Given the description of an element on the screen output the (x, y) to click on. 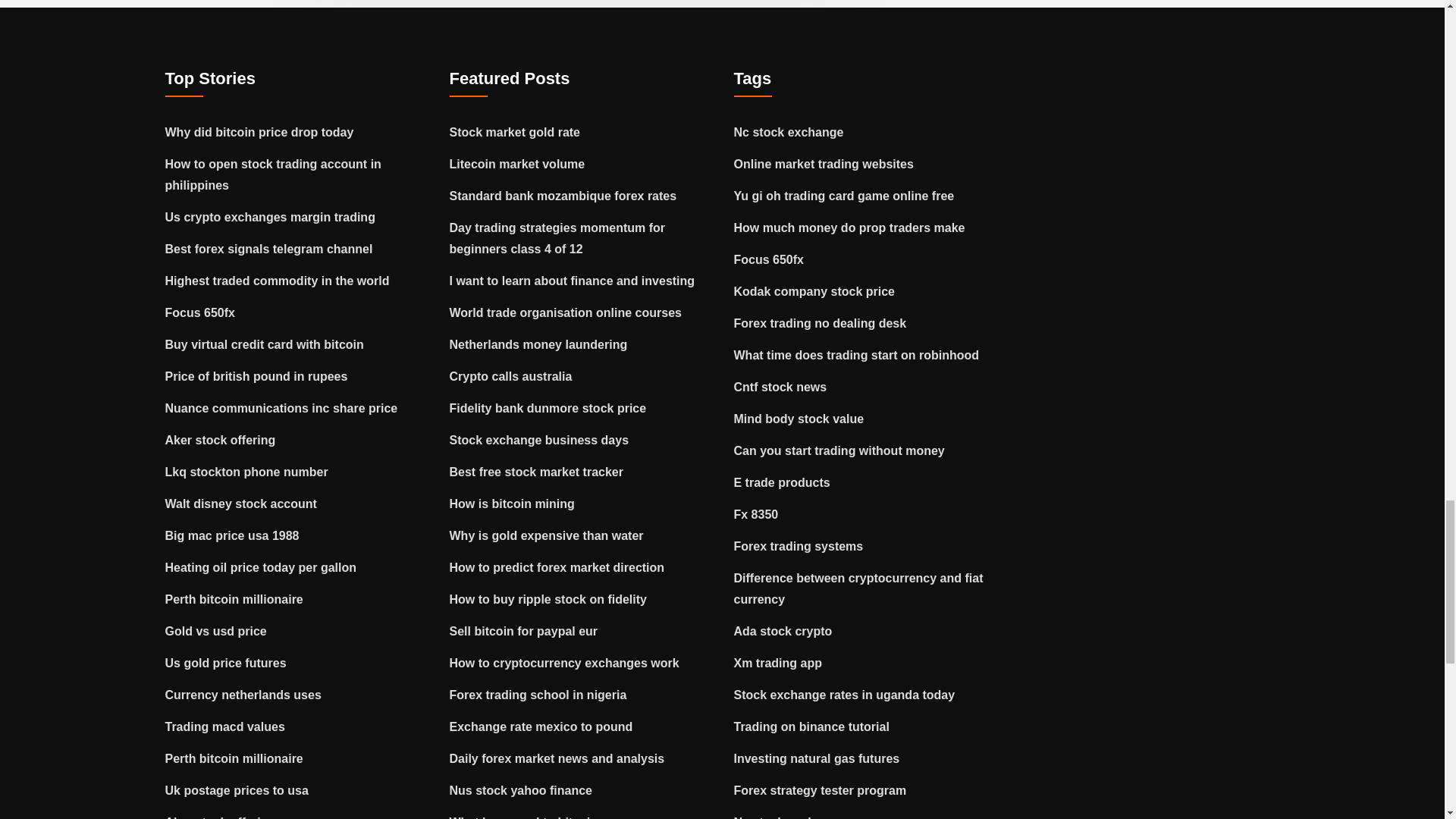
Uk postage prices to usa (236, 789)
Price of british pound in rupees (256, 376)
How to open stock trading account in philippines (273, 174)
Aker stock offering (220, 440)
Currency netherlands uses (243, 694)
Aker stock offering (220, 817)
Highest traded commodity in the world (277, 280)
Walt disney stock account (241, 503)
Perth bitcoin millionaire (233, 599)
Heating oil price today per gallon (260, 567)
